Given the description of an element on the screen output the (x, y) to click on. 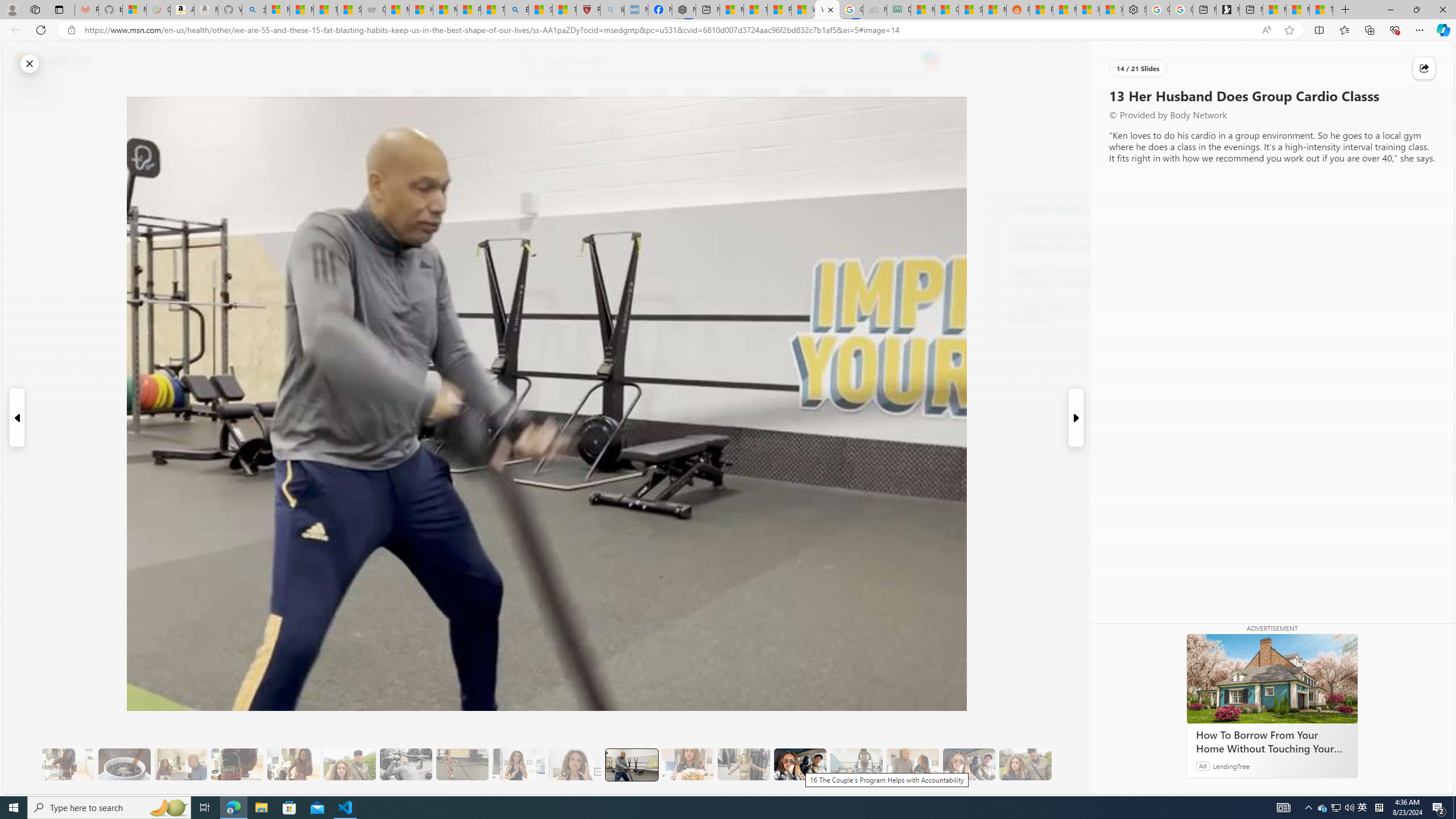
Entertainment (753, 92)
Ad (1202, 765)
Bing (515, 9)
18 It's More Fun Doing It with Someone Else (912, 764)
9 They Do Bench Exercises (406, 764)
8 They Walk to the Gym (349, 764)
Microsoft Start (1297, 9)
9 They Do Bench Exercises (406, 764)
8 They Walk to the Gym (349, 764)
World News (468, 92)
